Given the description of an element on the screen output the (x, y) to click on. 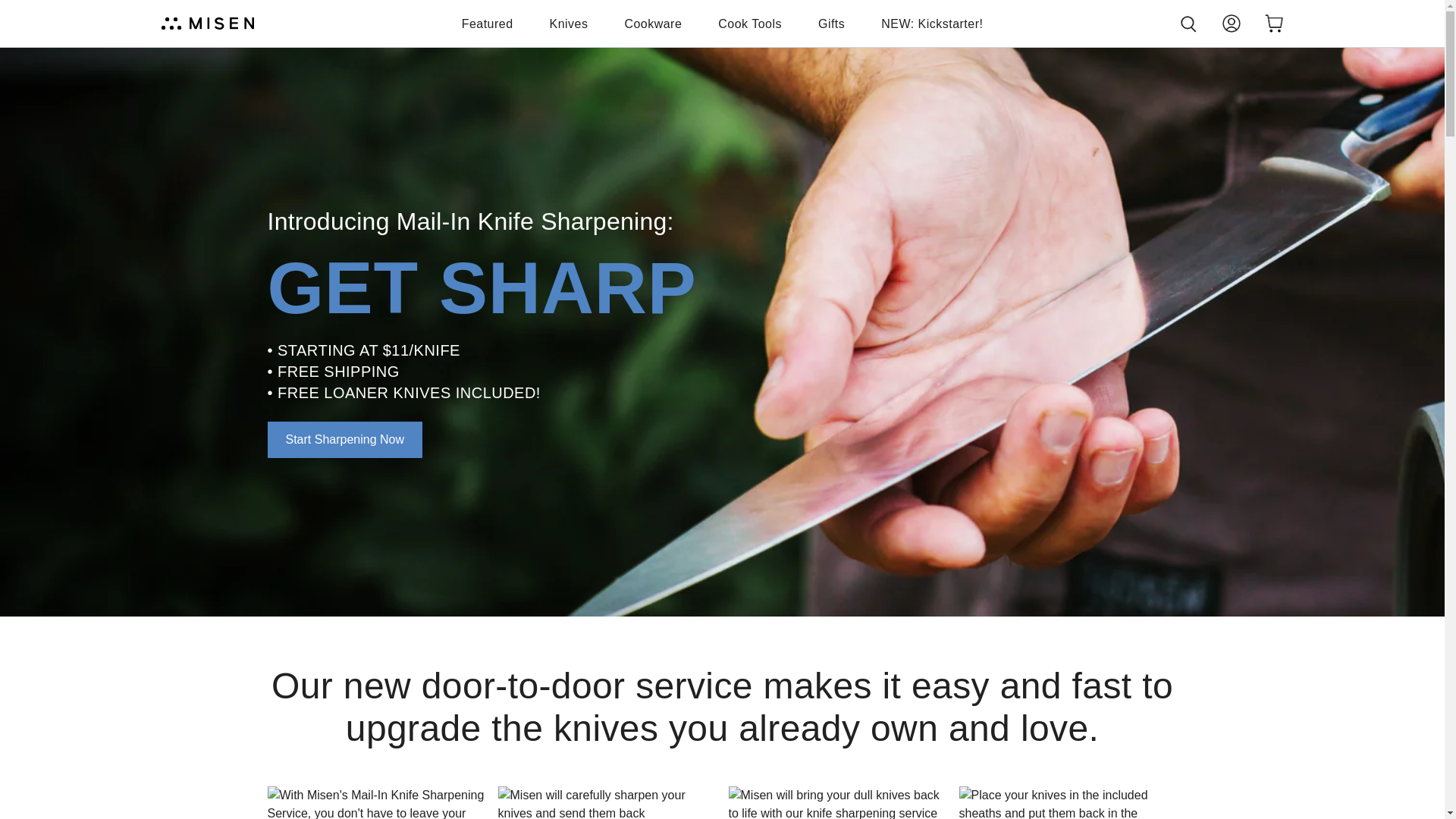
NEW: Kickstarter! (931, 24)
Skip to content (17, 8)
Featured (487, 24)
Cook Tools (749, 24)
Cookware (652, 24)
Knives (569, 24)
Gifts (831, 24)
